Given the description of an element on the screen output the (x, y) to click on. 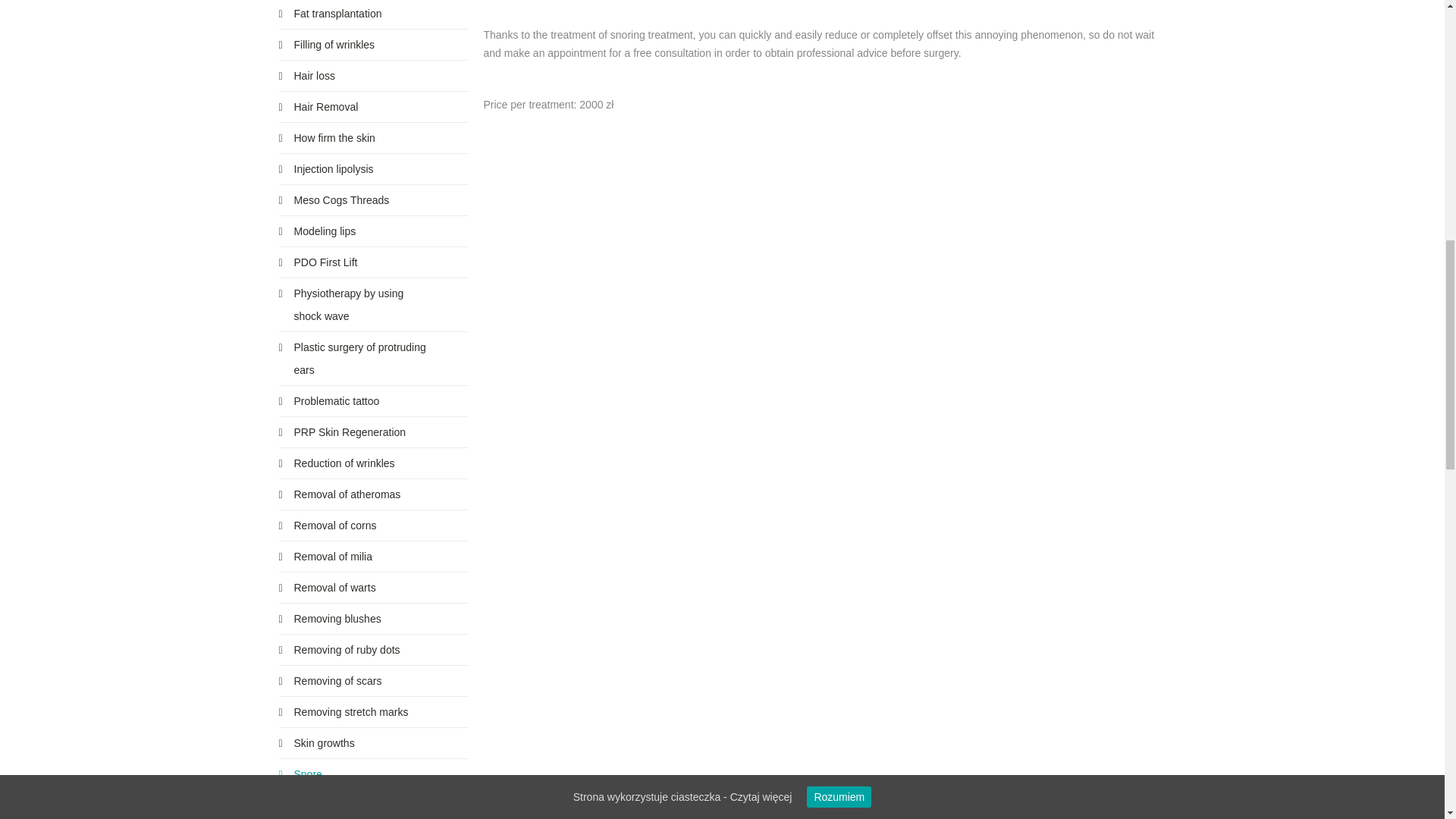
Plastic surgery of protruding ears (373, 360)
Problematic tattoo (373, 402)
PDO First Lift (373, 264)
Filling of wrinkles (373, 46)
How firm the skin (373, 139)
Hair loss (373, 77)
PRP Skin Regeneration (373, 433)
Physiotherapy by using shock wave (373, 306)
Meso Cogs Threads (373, 202)
Hair Removal (373, 108)
Fat transplantation (373, 15)
Reduction of wrinkles (373, 465)
Injection lipolysis (373, 171)
Modeling lips (373, 233)
